Given the description of an element on the screen output the (x, y) to click on. 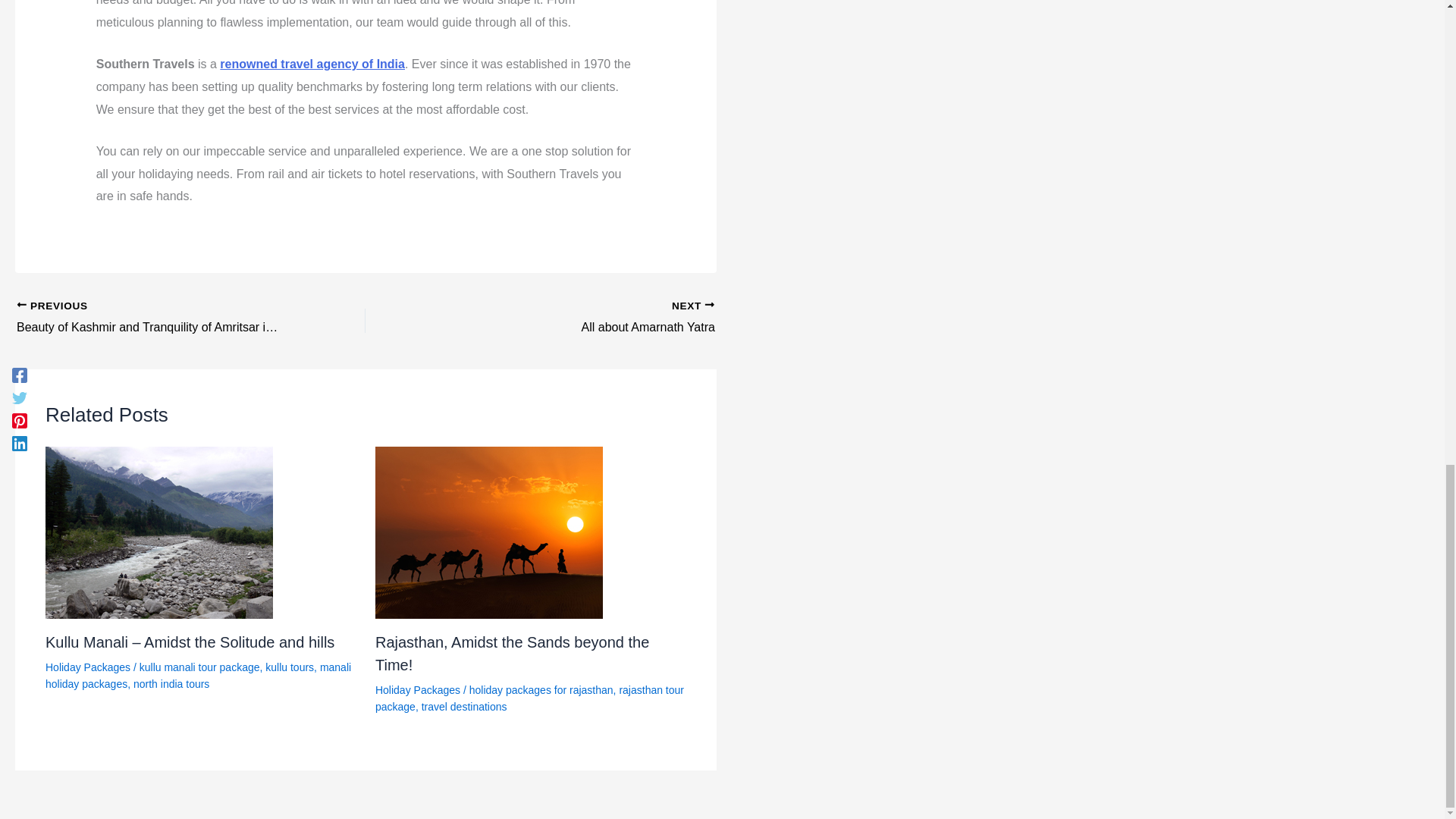
manali holiday packages (197, 675)
north india tours (171, 684)
All about Amarnath Yatra (573, 318)
kullu manali tour package (199, 666)
kullu tours (289, 666)
Rajasthan, Amidst the Sands beyond the Time! (573, 318)
renowned travel agency of India (512, 653)
Holiday Packages (311, 63)
